Given the description of an element on the screen output the (x, y) to click on. 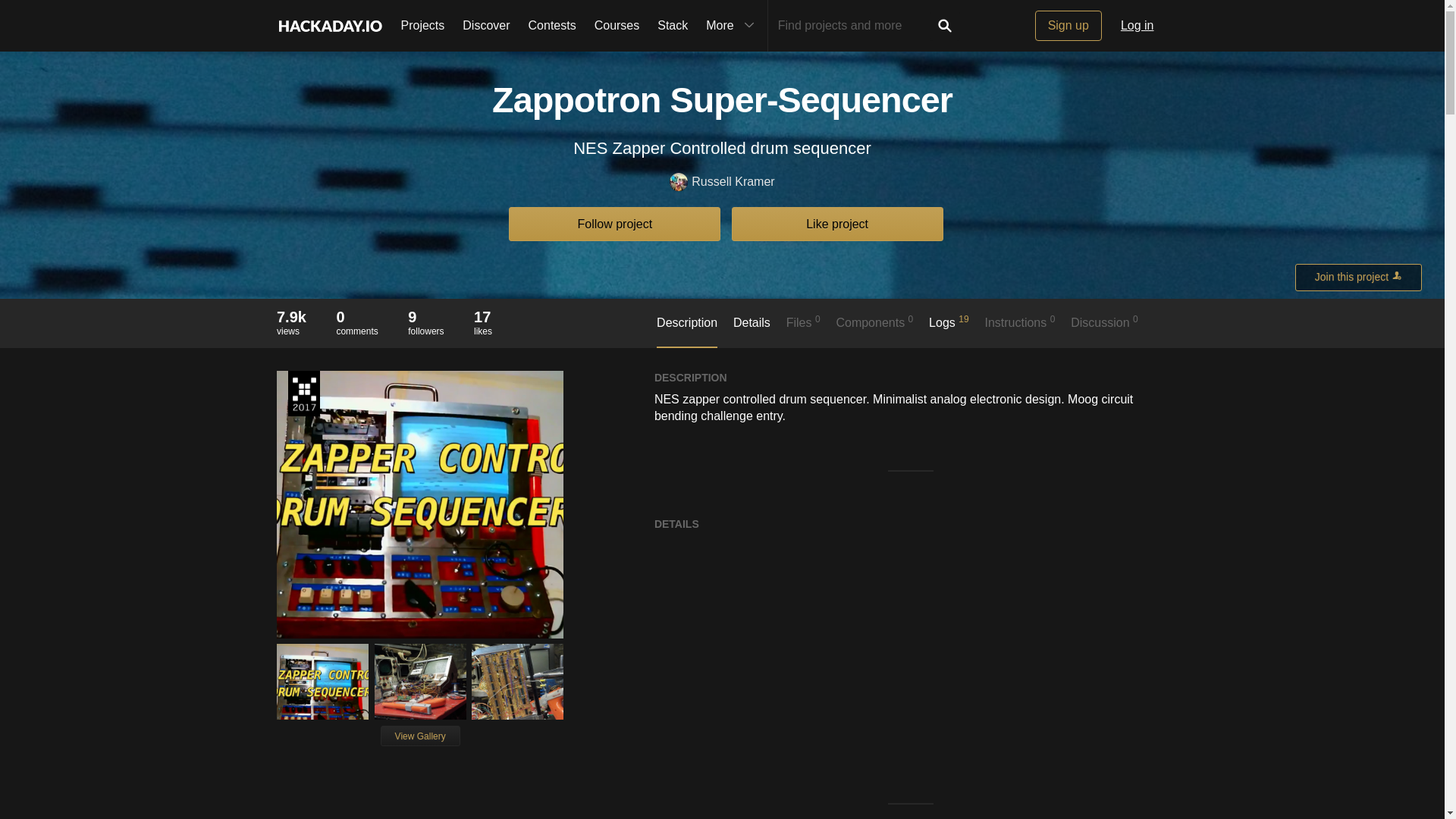
Hackaday.io (329, 25)
Contests (552, 25)
Details (751, 330)
Two characters minimum (853, 25)
Description (686, 331)
Stack (672, 25)
Join this project (425, 322)
Logs 19 (1358, 277)
Follow project (948, 329)
